Given the description of an element on the screen output the (x, y) to click on. 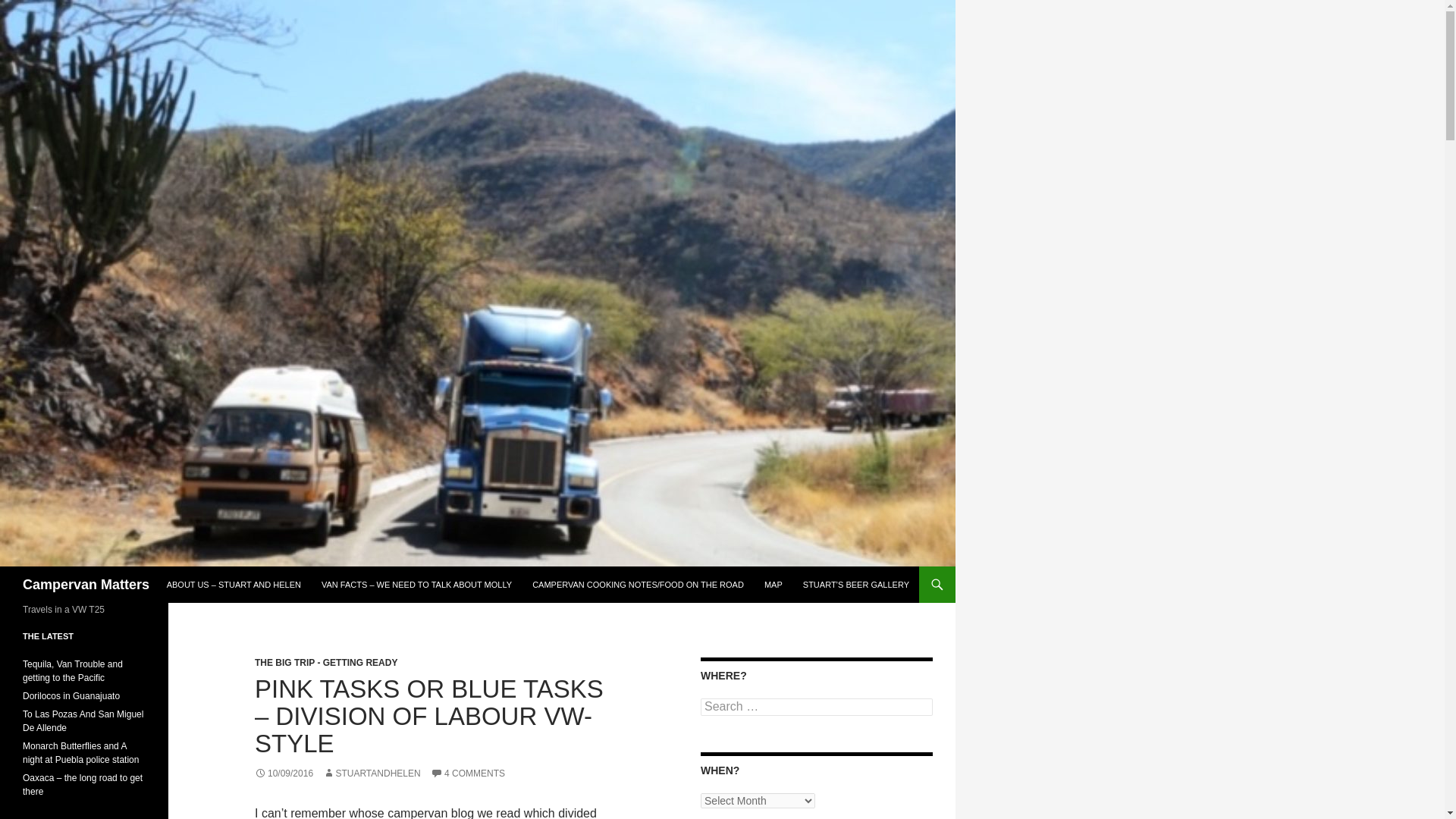
Campervan Matters (86, 584)
Dorilocos in Guanajuato (71, 696)
Tequila, Van Trouble and getting to the Pacific (72, 671)
4 COMMENTS (467, 773)
THE BIG TRIP - GETTING READY (325, 662)
MAP (773, 584)
Search (30, 8)
To Las Pozas And San Miguel De Allende (82, 721)
Monarch Butterflies and A night at Puebla police station (80, 752)
STUARTANDHELEN (371, 773)
